Given the description of an element on the screen output the (x, y) to click on. 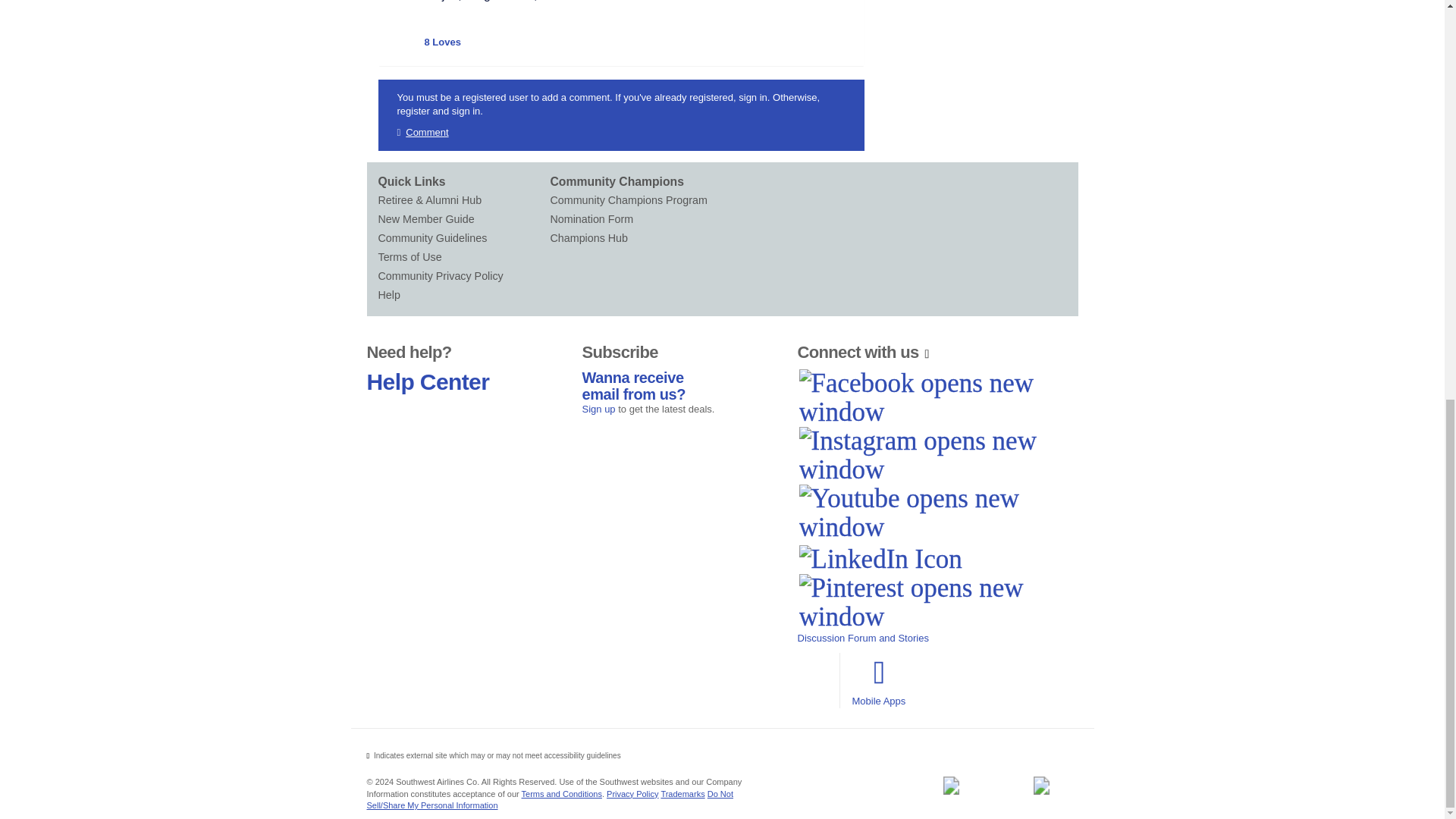
Southwest Cargo logo and link (1041, 785)
Southwest Business logo and link (950, 785)
Click here to see who gave loves to this post. (442, 42)
